Given the description of an element on the screen output the (x, y) to click on. 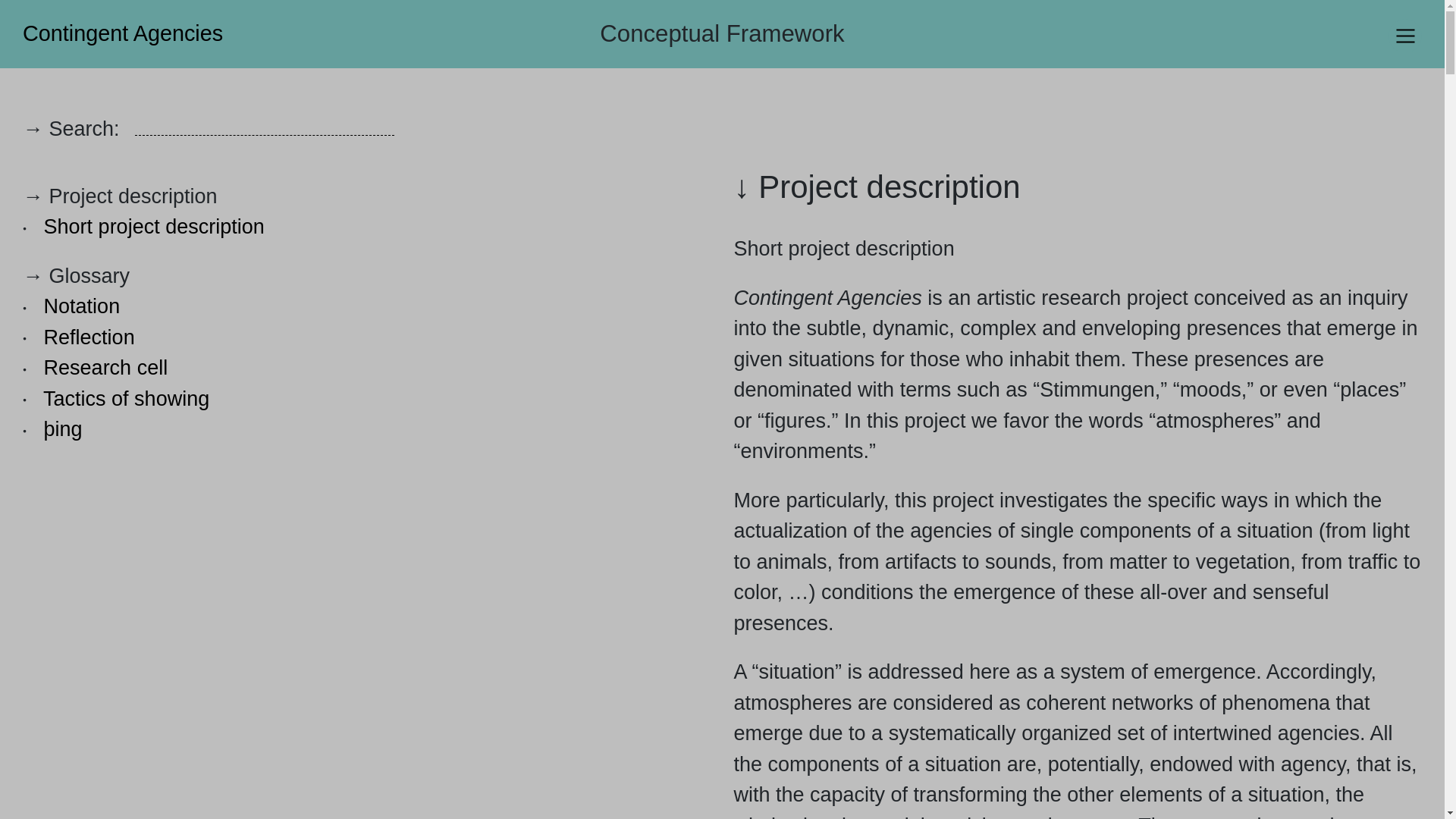
Reflection (89, 336)
Notation (81, 305)
Short project description (153, 226)
Tactics of showing (126, 397)
Contingent Agencies (116, 33)
Research cell (105, 367)
